Given the description of an element on the screen output the (x, y) to click on. 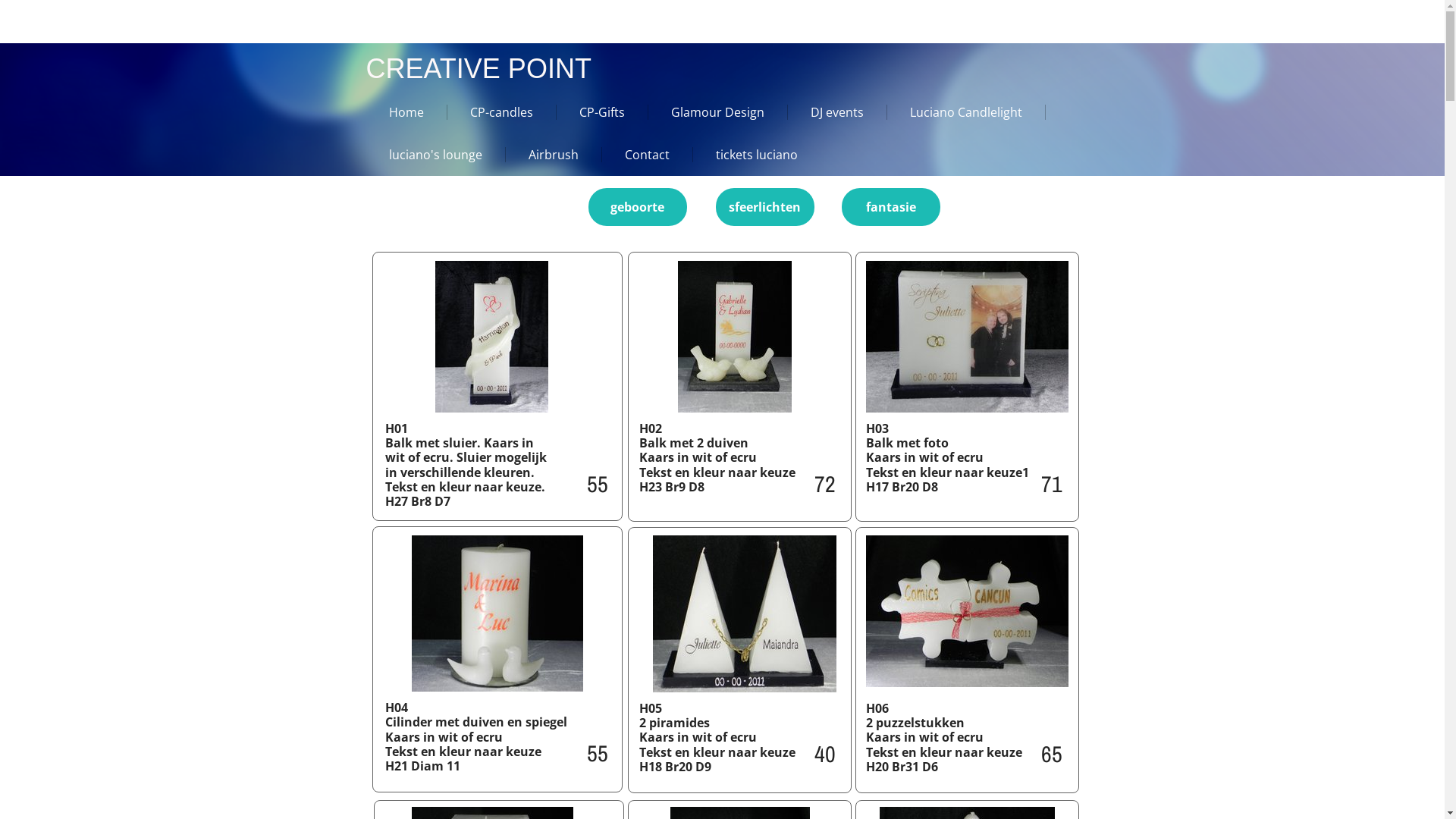
Contact Element type: text (637, 154)
tickets luciano Element type: text (746, 154)
Glamour Design Element type: text (706, 112)
CP-candles Element type: text (491, 112)
luciano's lounge Element type: text (424, 154)
DJ events Element type: text (826, 112)
CP-Gifts Element type: text (591, 112)
Airbrush Element type: text (542, 154)
sfeerlichten Element type: text (764, 206)
fantasie Element type: text (890, 206)
Home Element type: text (395, 112)
Luciano Candlelight Element type: text (956, 112)
geboorte Element type: text (637, 206)
